Given the description of an element on the screen output the (x, y) to click on. 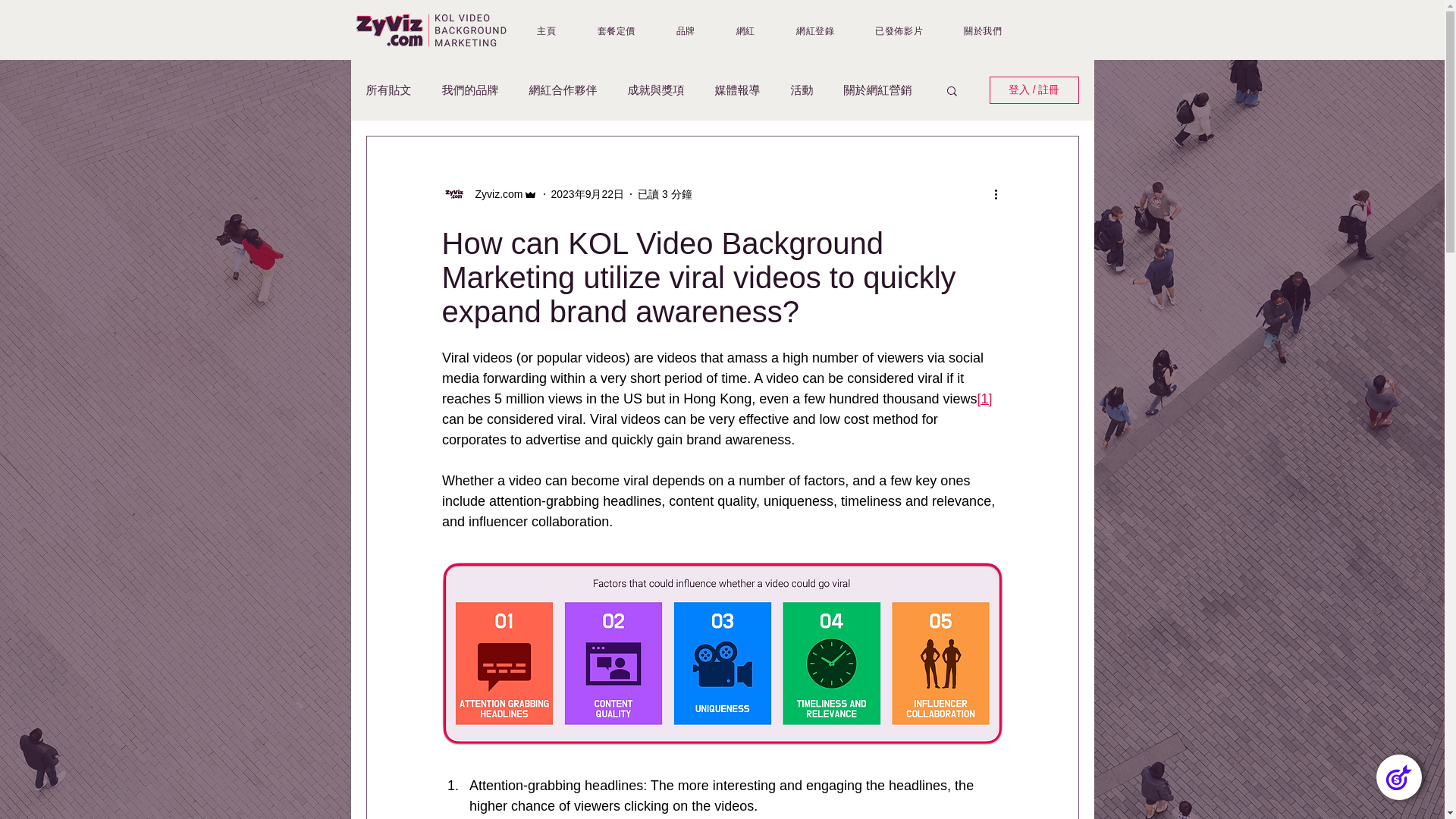
Zyviz.com (493, 194)
